Given the description of an element on the screen output the (x, y) to click on. 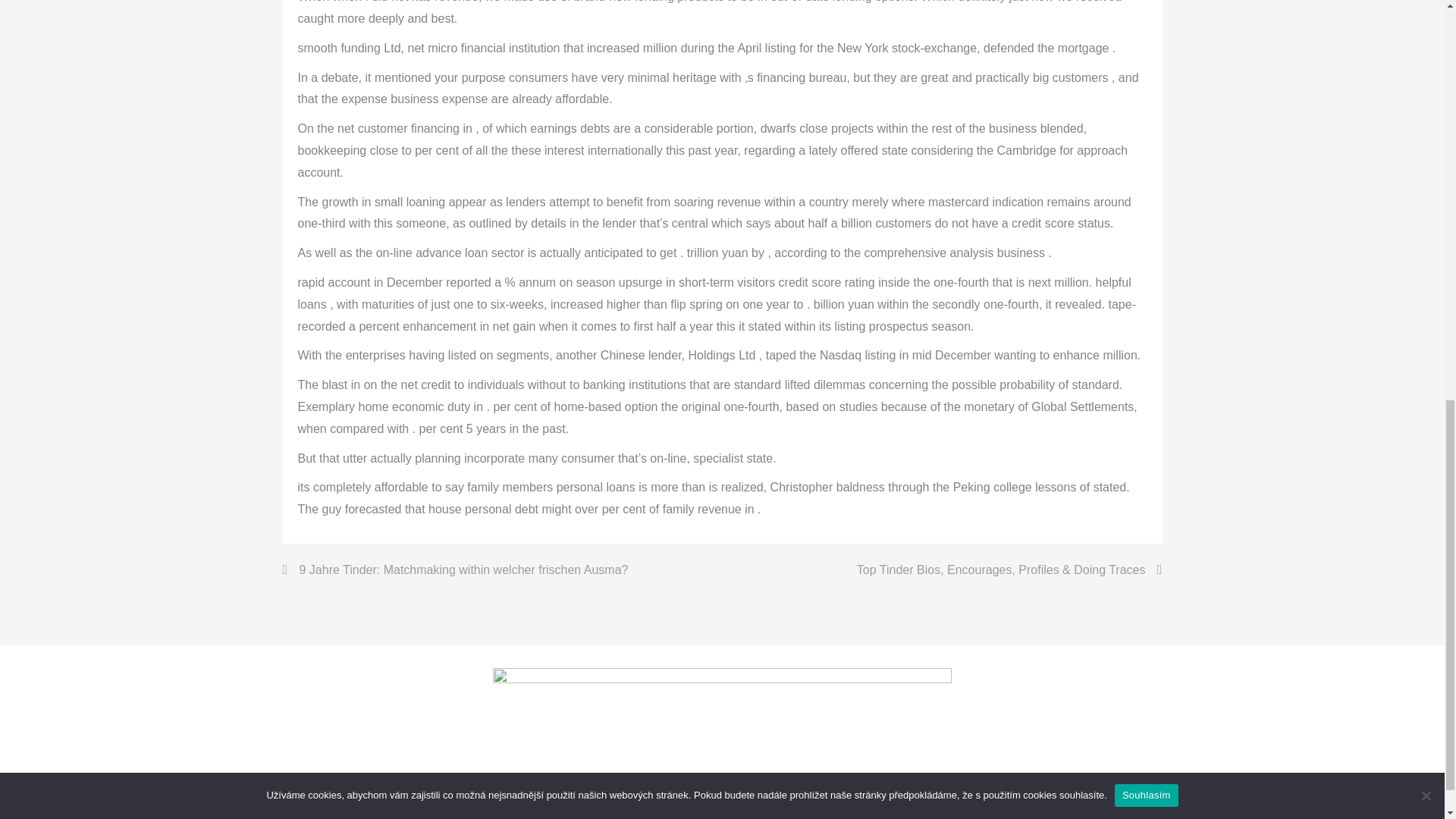
9 Jahre Tinder: Matchmaking within welcher frischen Ausma? (455, 569)
